Given the description of an element on the screen output the (x, y) to click on. 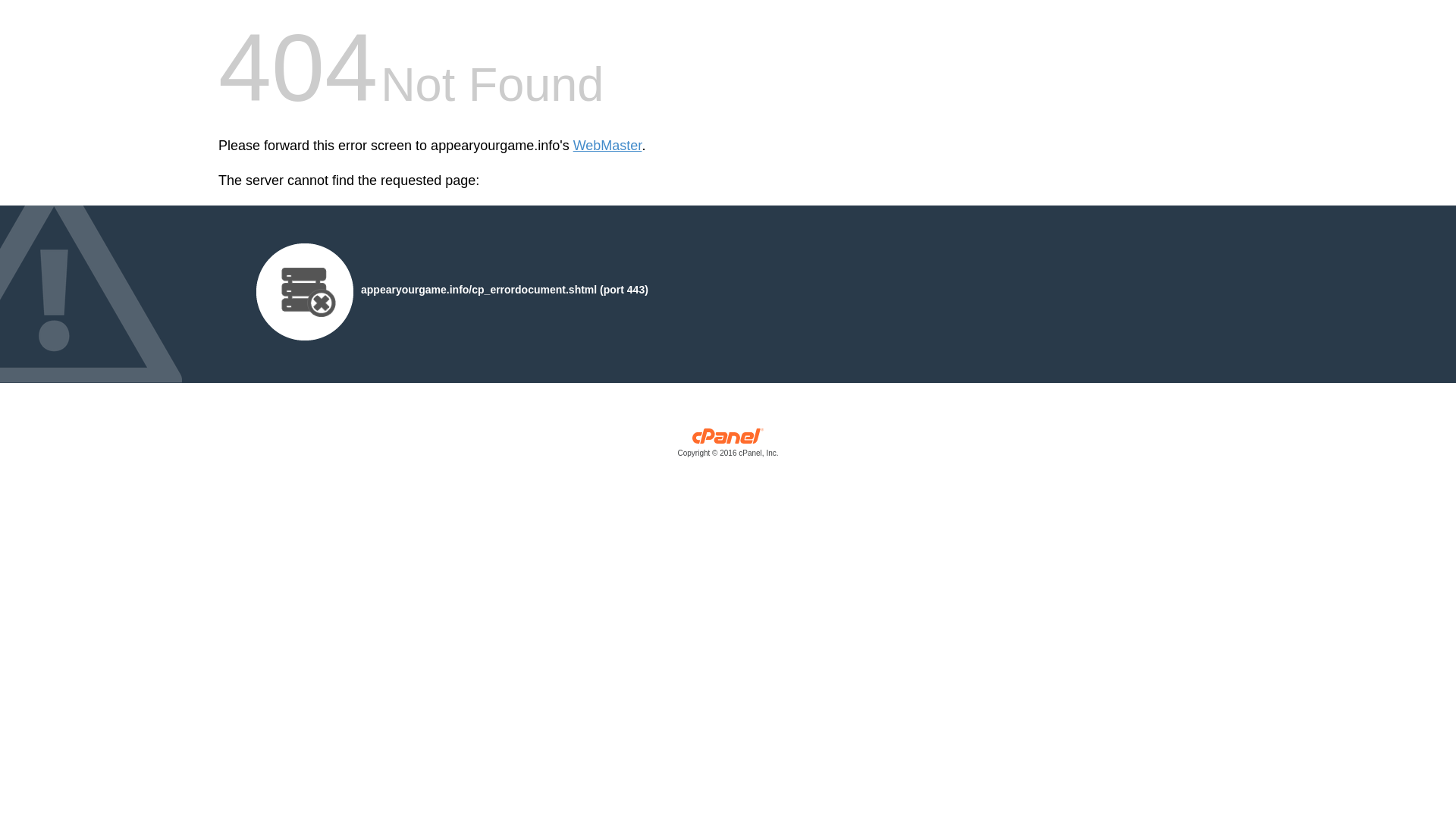
WebMaster (607, 145)
cPanel, Inc. (727, 446)
